Given the description of an element on the screen output the (x, y) to click on. 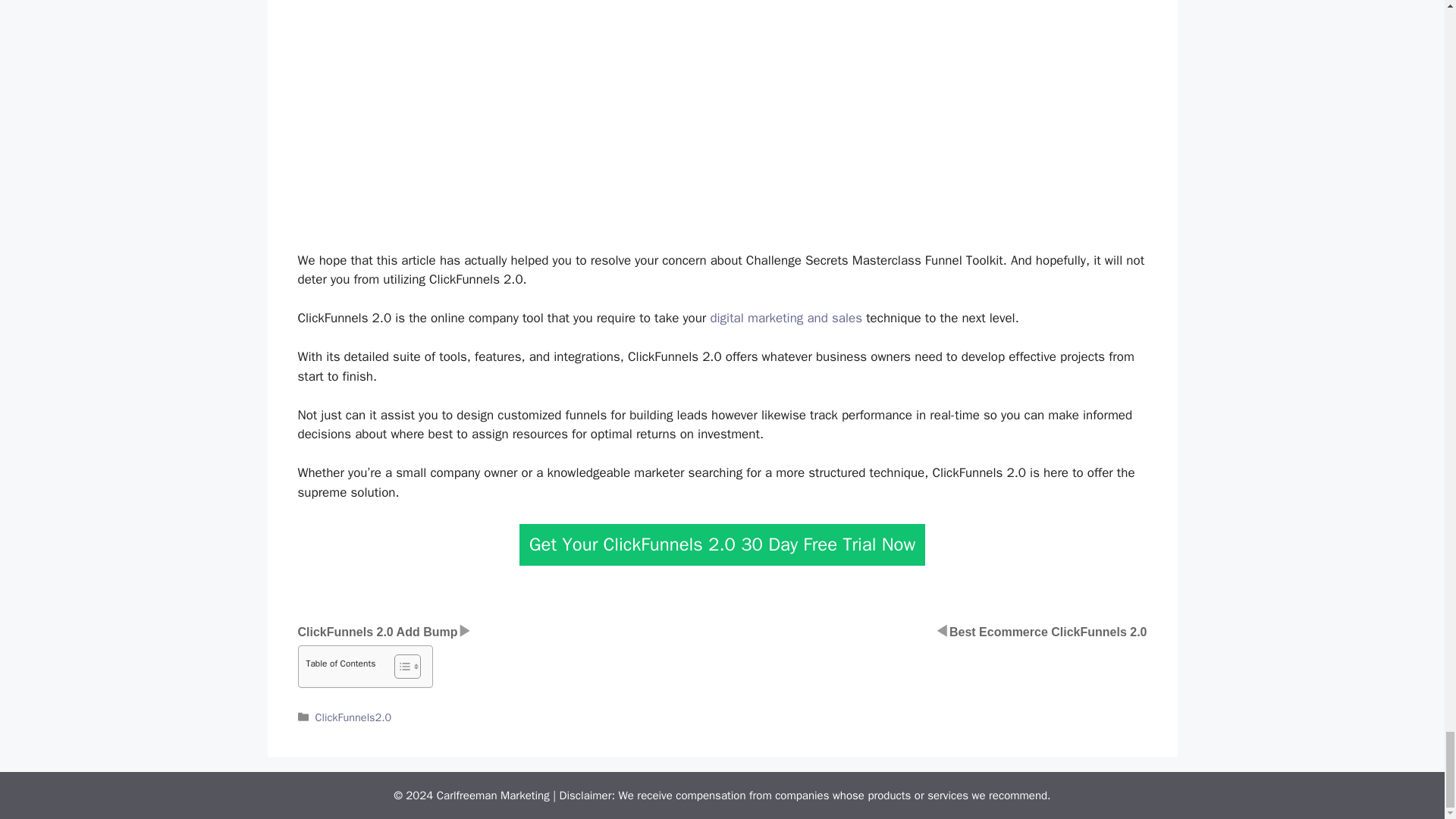
Best Ecommerce ClickFunnels 2.0 (1048, 631)
digital marketing and sales (785, 317)
Get Your ClickFunnels 2.0 30 Day Free Trial Now (722, 544)
Best Ecommerce ClickFunnels 2.0 (1048, 631)
ClickFunnels 2.0 Add Bump (377, 631)
ClickFunnels 2.0 Add Bump (377, 631)
